Given the description of an element on the screen output the (x, y) to click on. 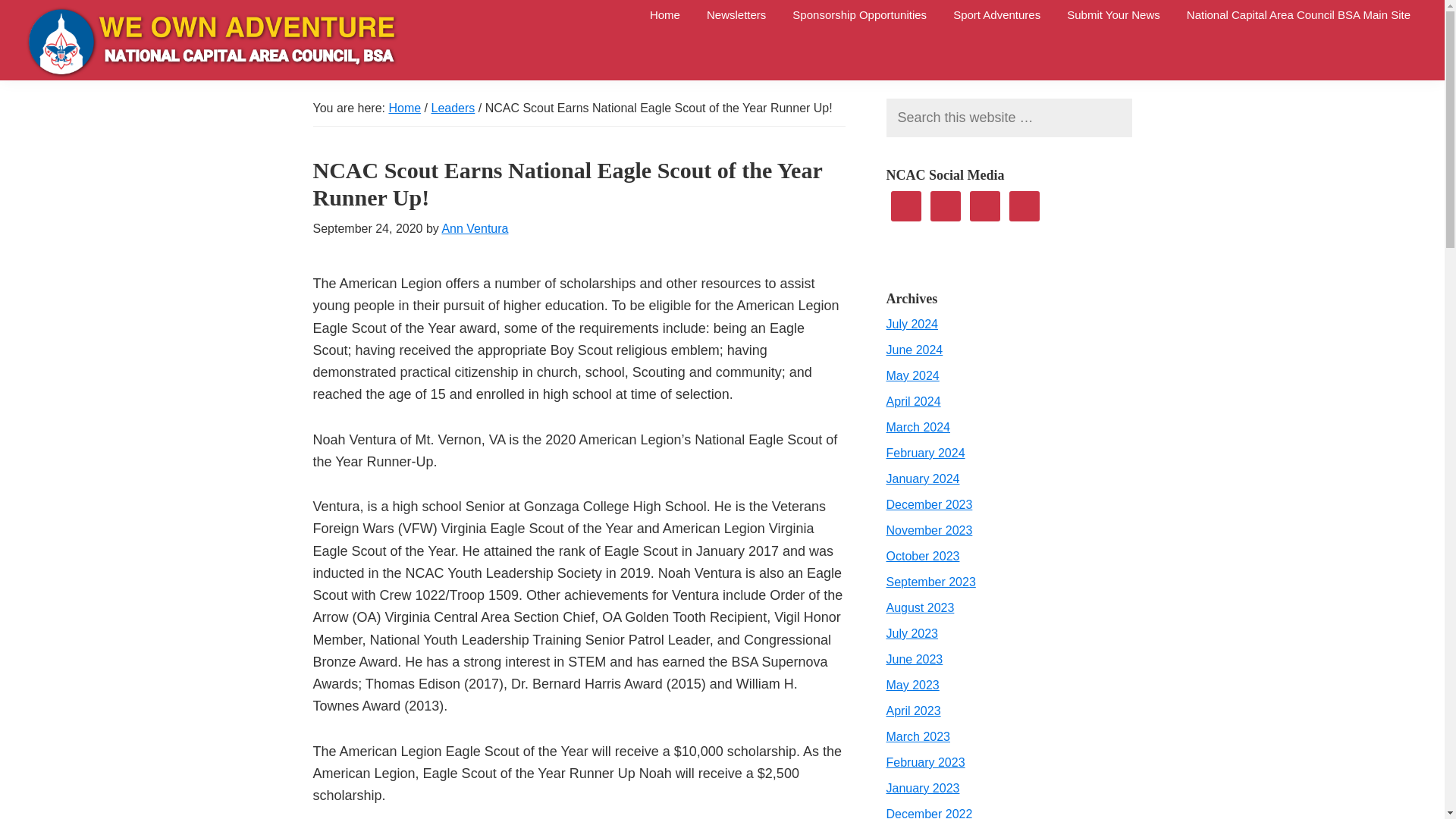
December 2023 (928, 504)
Home (404, 107)
March 2024 (917, 427)
Leaders (452, 107)
January 2024 (922, 478)
Home (665, 14)
April 2024 (912, 400)
Ann Ventura (474, 228)
Newsletters (736, 14)
September 2023 (930, 581)
Sport Adventures (996, 14)
We Own Adventure (60, 99)
